Given the description of an element on the screen output the (x, y) to click on. 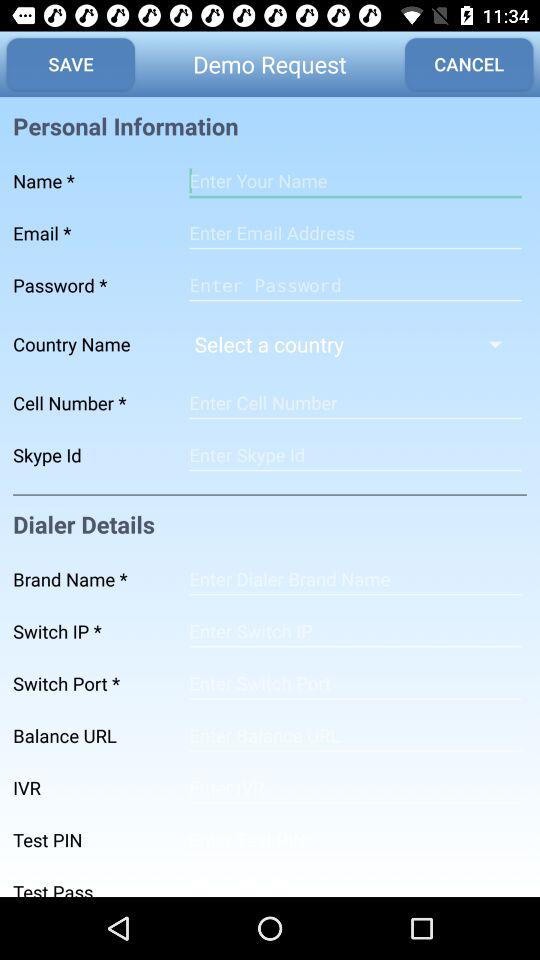
screen page (355, 455)
